Given the description of an element on the screen output the (x, y) to click on. 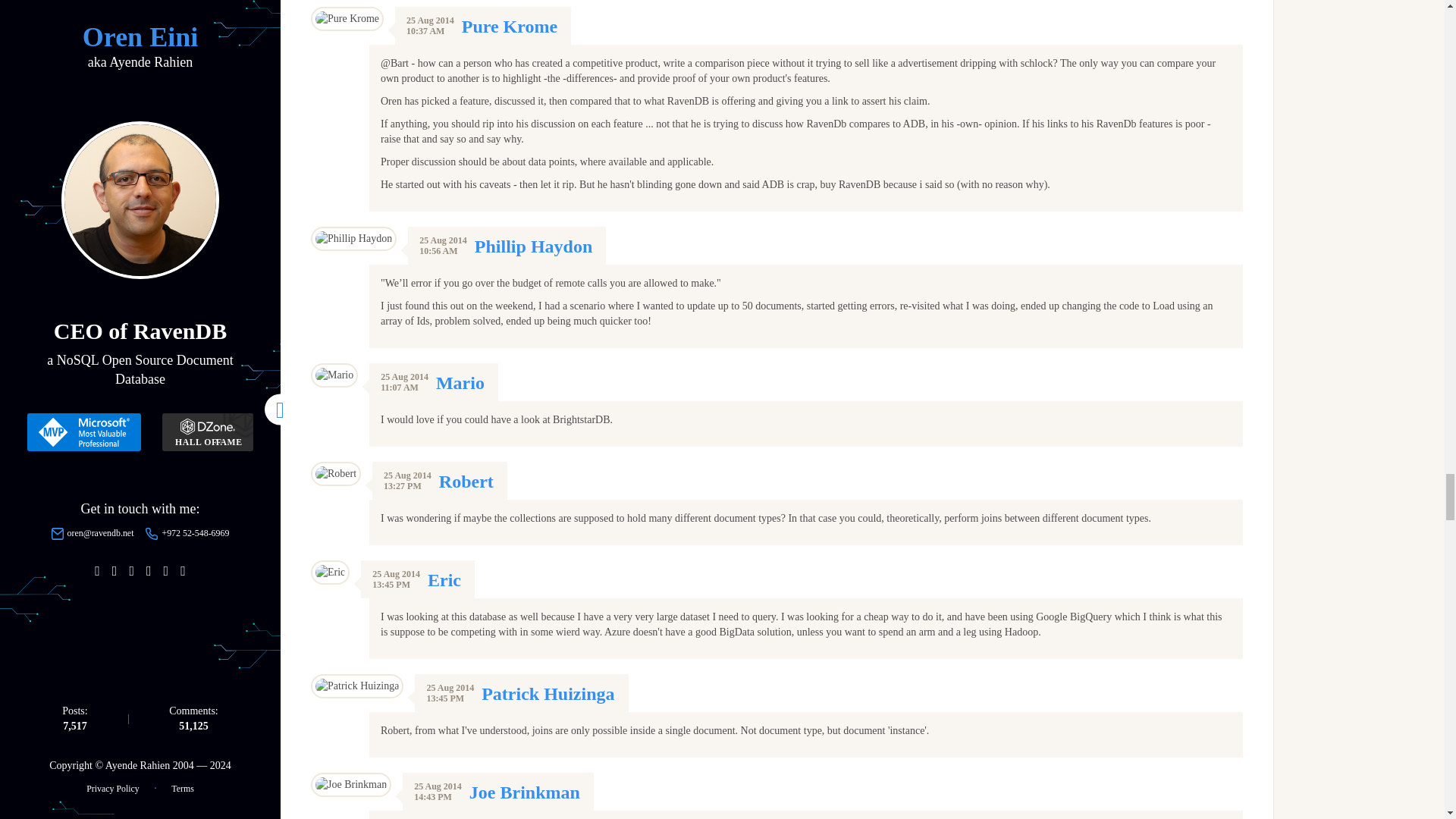
Comment by Eric (444, 579)
Comment by Patrick Huizinga (547, 693)
Comment by Mario (459, 383)
Comment by Pure Krome (509, 26)
Comment by Phillip Haydon (533, 246)
Comment by Robert (466, 481)
Comment by Joe Brinkman (523, 792)
